Given the description of an element on the screen output the (x, y) to click on. 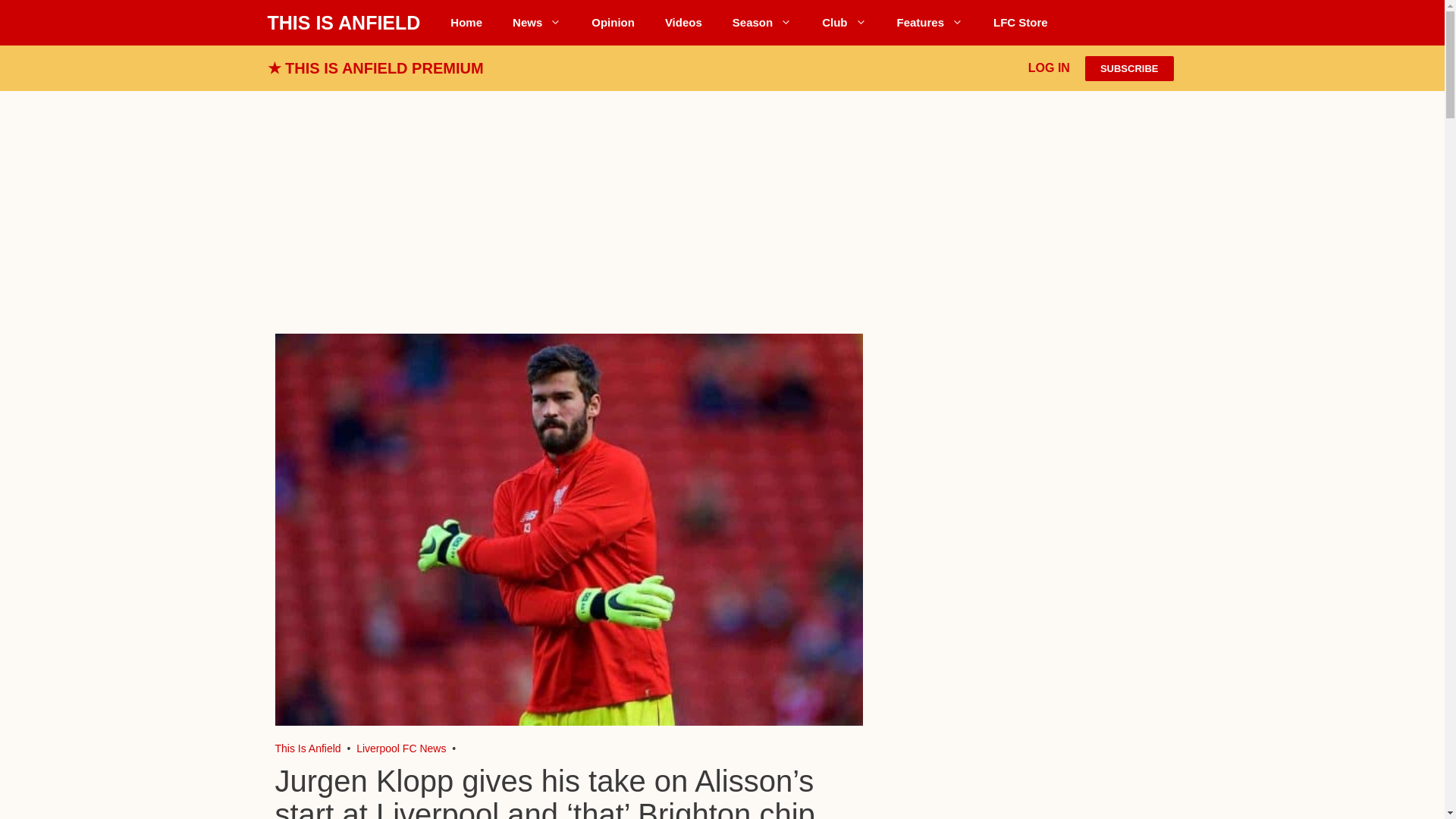
THIS IS ANFIELD (343, 22)
Liverpool FC (307, 748)
Videos (683, 22)
Season (761, 22)
Opinion (612, 22)
Go to the Liverpool FC News category archives. (400, 748)
Liverpool FC Videos (683, 22)
Liverpool FC News (536, 22)
Liverpool FC Opinion (612, 22)
Home (466, 22)
Features (929, 22)
Liverpool FC Features (929, 22)
News (536, 22)
Club (843, 22)
